Given the description of an element on the screen output the (x, y) to click on. 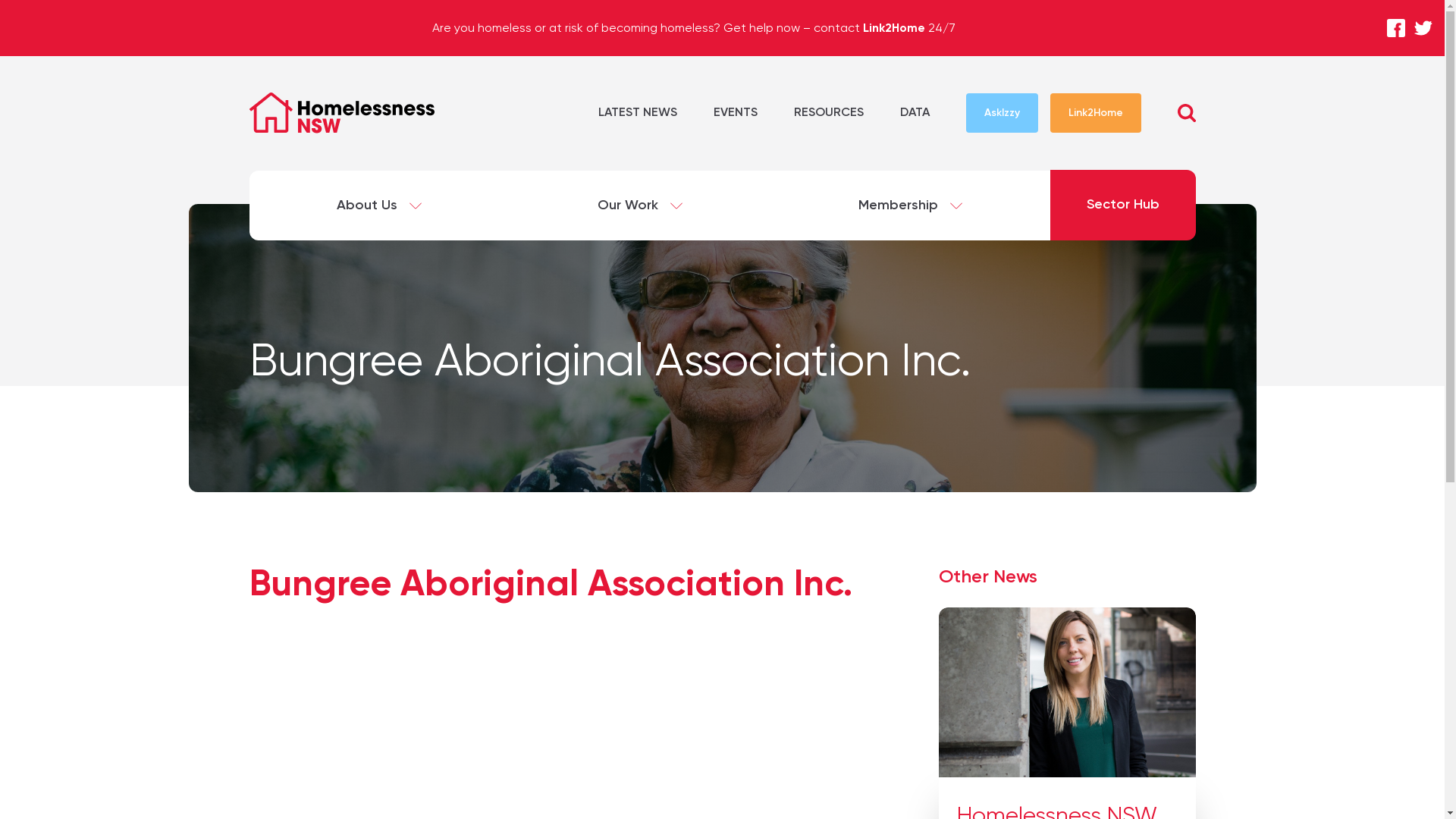
DATA Element type: text (913, 112)
RESOURCES Element type: text (827, 112)
Our Work Element type: text (639, 205)
LATEST NEWS Element type: text (636, 112)
Sector Hub Element type: text (1122, 204)
Link2Home Element type: text (893, 27)
Link2Home Element type: text (1094, 112)
EVENTS Element type: text (734, 112)
AskIzzy Element type: text (1002, 112)
Membership Element type: text (910, 205)
About Us Element type: text (378, 205)
